Given the description of an element on the screen output the (x, y) to click on. 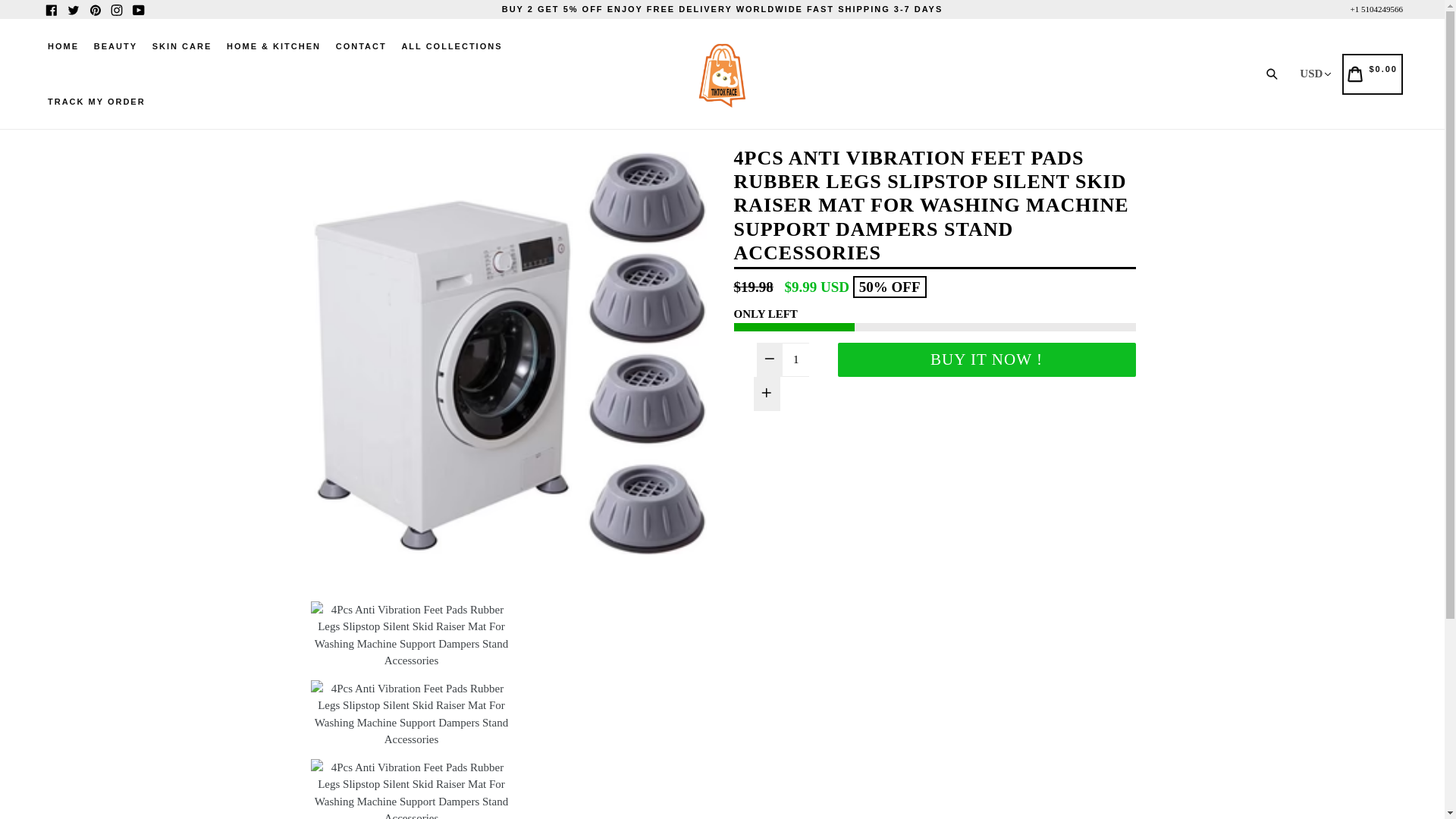
Facebook (51, 9)
Twitter (73, 9)
YouTube (138, 9)
TIKTOK FACE on Facebook (51, 9)
TIKTOK FACE on YouTube (138, 9)
CONTACT (361, 46)
Pinterest (94, 9)
SKIN CARE (182, 46)
TIKTOK FACE on Twitter (73, 9)
BEAUTY (114, 46)
